Given the description of an element on the screen output the (x, y) to click on. 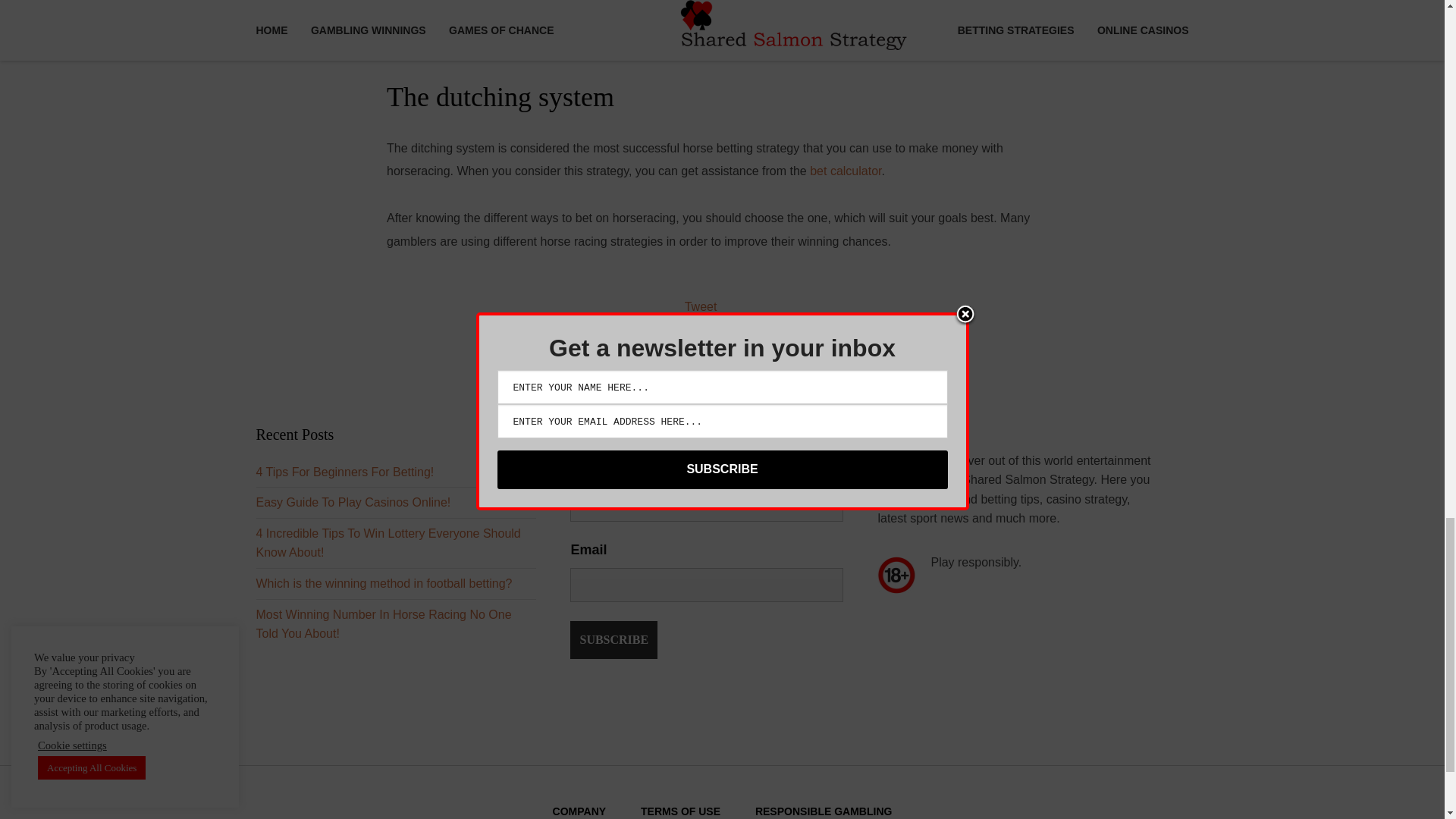
RESPONSIBLE GAMBLING (823, 811)
Tweet (700, 306)
bet calculator (844, 170)
Which is the winning method in football betting? (384, 583)
Easy Guide To Play Casinos Online! (353, 502)
4 Incredible Tips To Win Lottery Everyone Should Know About! (388, 543)
Most Winning Number In Horse Racing No One Told You About! (384, 624)
TERMS OF USE (680, 811)
COMPANY (580, 811)
bet calculator (844, 170)
Subscribe (614, 639)
4 Tips For Beginners For Betting! (344, 472)
